Given the description of an element on the screen output the (x, y) to click on. 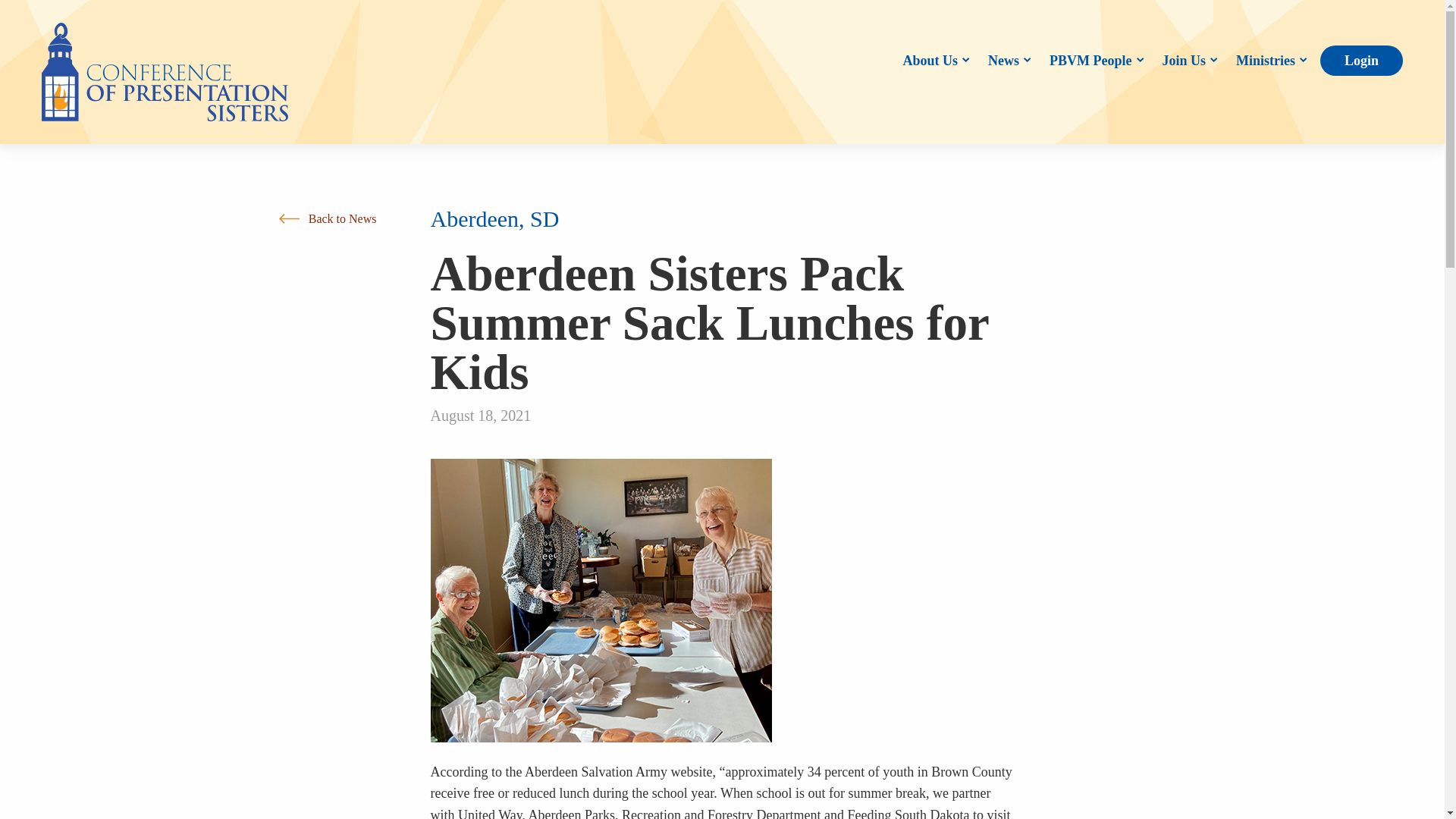
PBVM People (1093, 60)
About Us (932, 60)
News (1005, 60)
